Given the description of an element on the screen output the (x, y) to click on. 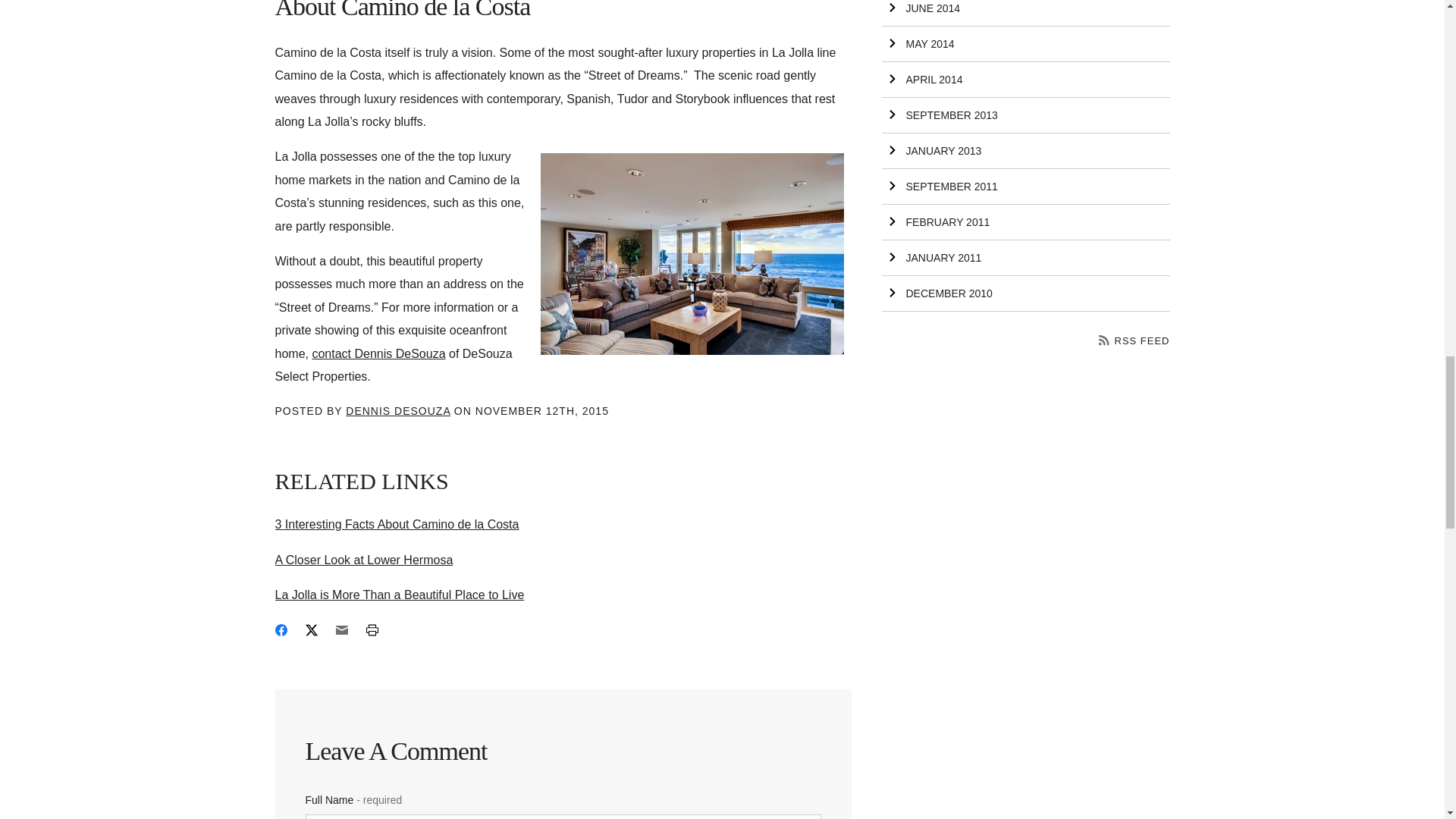
3 Interesting Facts About Camino de la Costa (396, 523)
3 Interesting Facts About Camino de la Costa (396, 523)
Contact DeSouza Select Properties (378, 353)
contact Dennis DeSouza (378, 353)
A Closer Look at Lower Hermosa (363, 559)
La Jolla is More Than a Beautiful Place to Live (399, 594)
La Jolla is More Than a Beautiful Place to Live (399, 594)
DENNIS DESOUZA (397, 410)
RSS FEED (1134, 340)
A Closer Look at Lower Hermosa (363, 559)
